Given the description of an element on the screen output the (x, y) to click on. 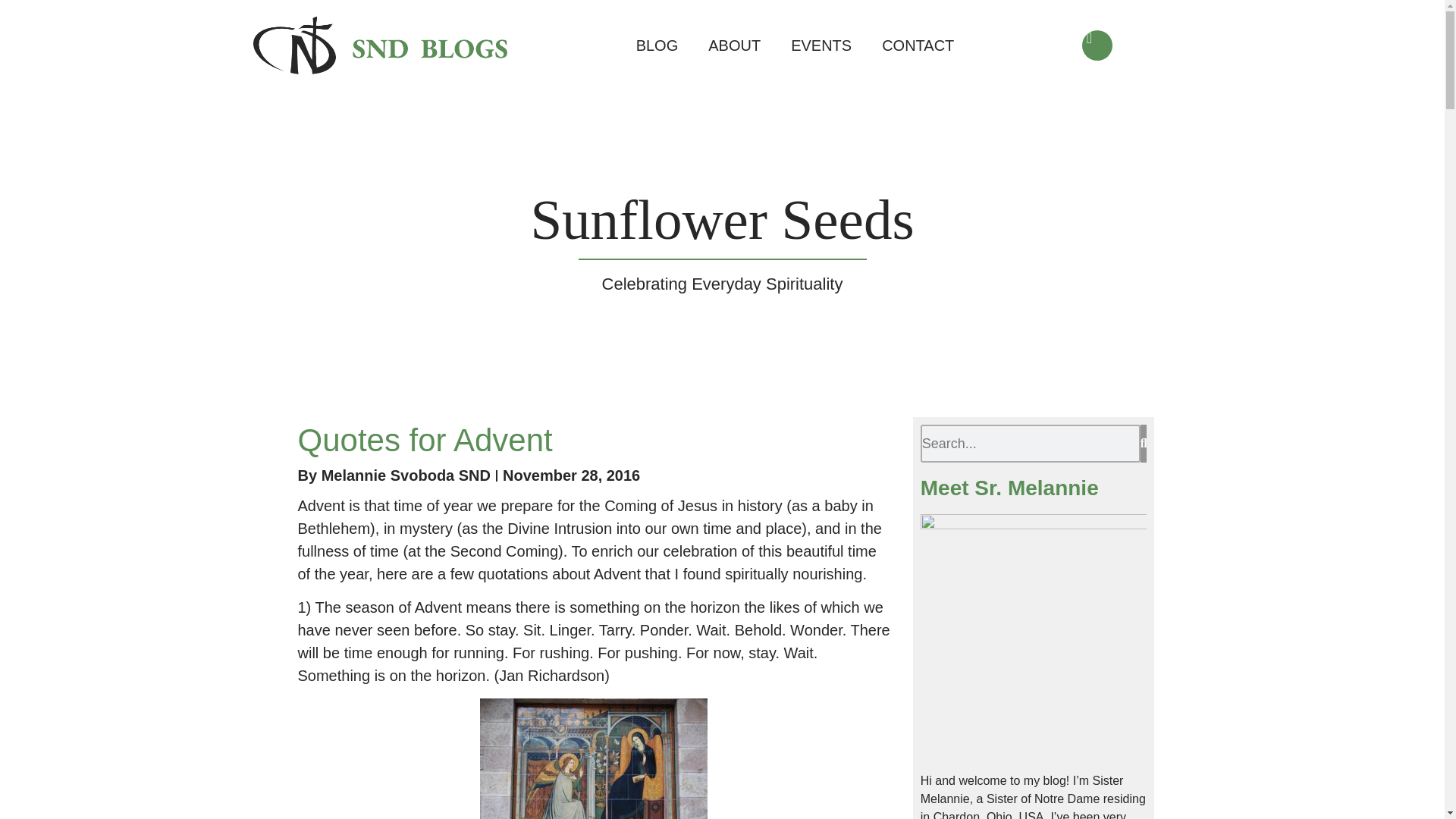
BLOG (657, 45)
ABOUT (734, 45)
CONTACT (917, 45)
EVENTS (821, 45)
